Given the description of an element on the screen output the (x, y) to click on. 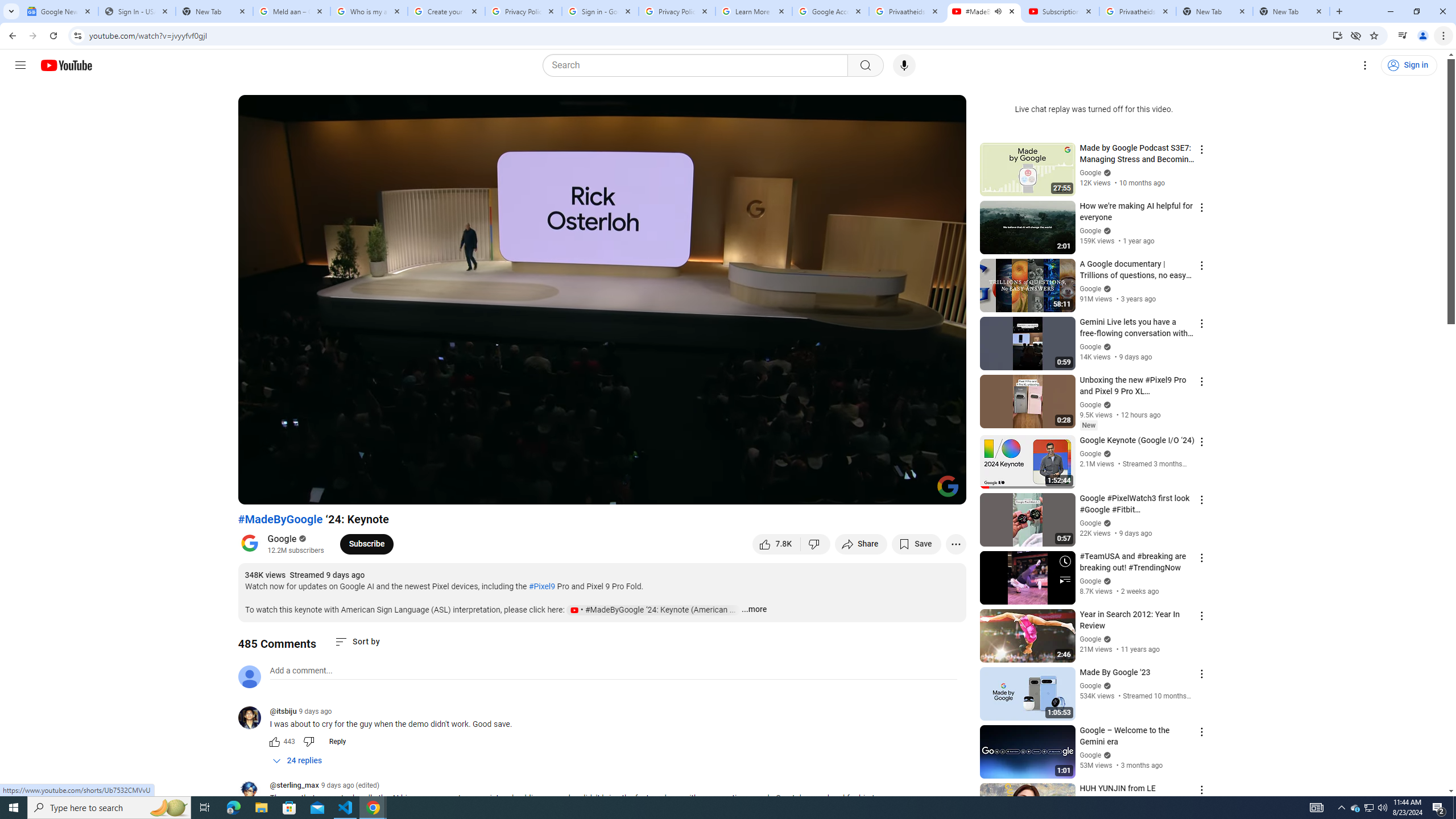
Verified (1106, 755)
Search (865, 65)
@sterling_max (293, 785)
Subscribe to Google. (366, 543)
Sort comments (357, 641)
Control your music, videos, and more (1402, 35)
Play (k) (257, 490)
Search with your voice (903, 65)
YouTube Home (66, 65)
Dislike this comment (307, 741)
